Given the description of an element on the screen output the (x, y) to click on. 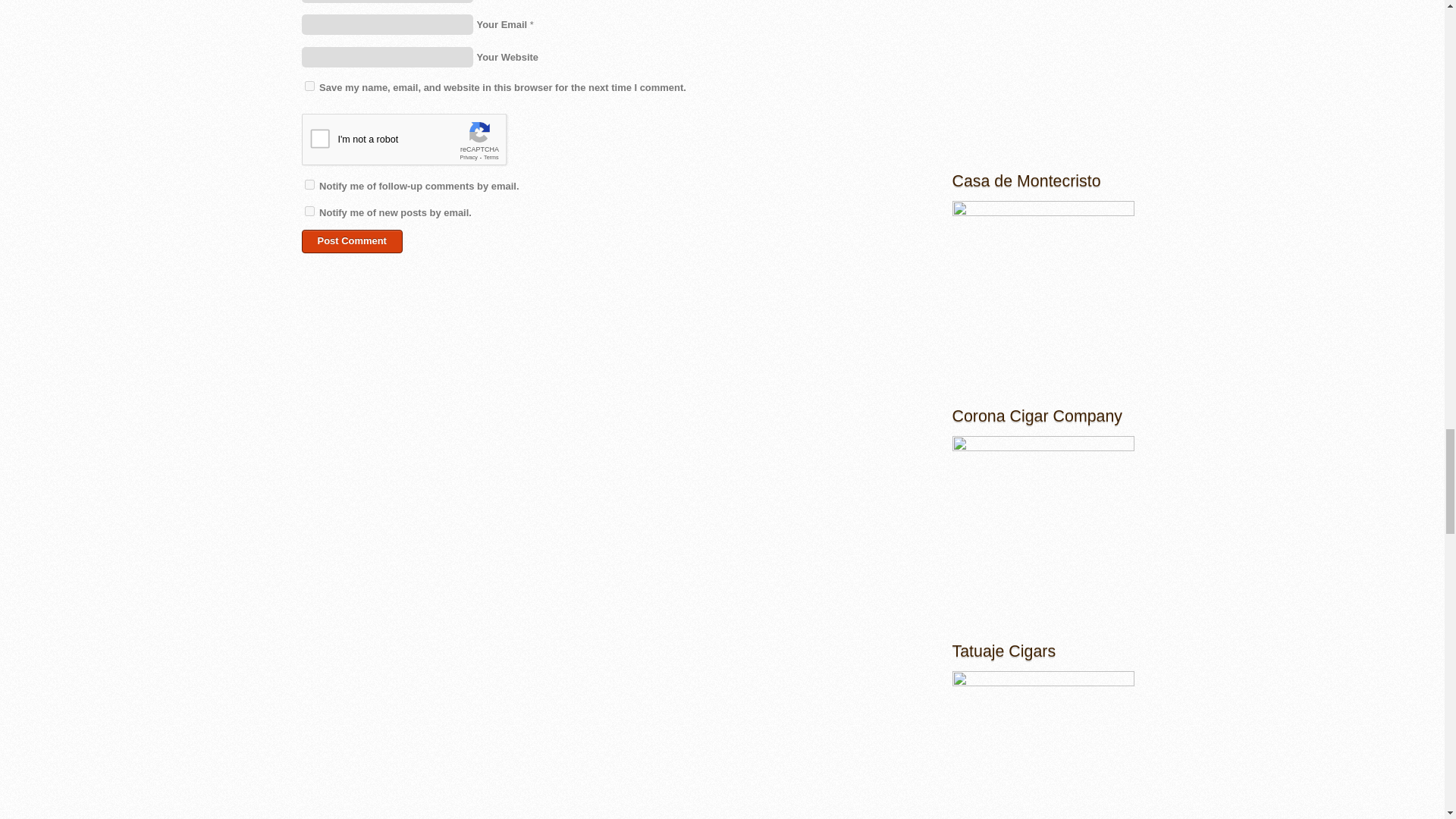
yes (309, 85)
subscribe (309, 184)
reCAPTCHA (416, 142)
Post Comment (352, 241)
subscribe (309, 211)
